Given the description of an element on the screen output the (x, y) to click on. 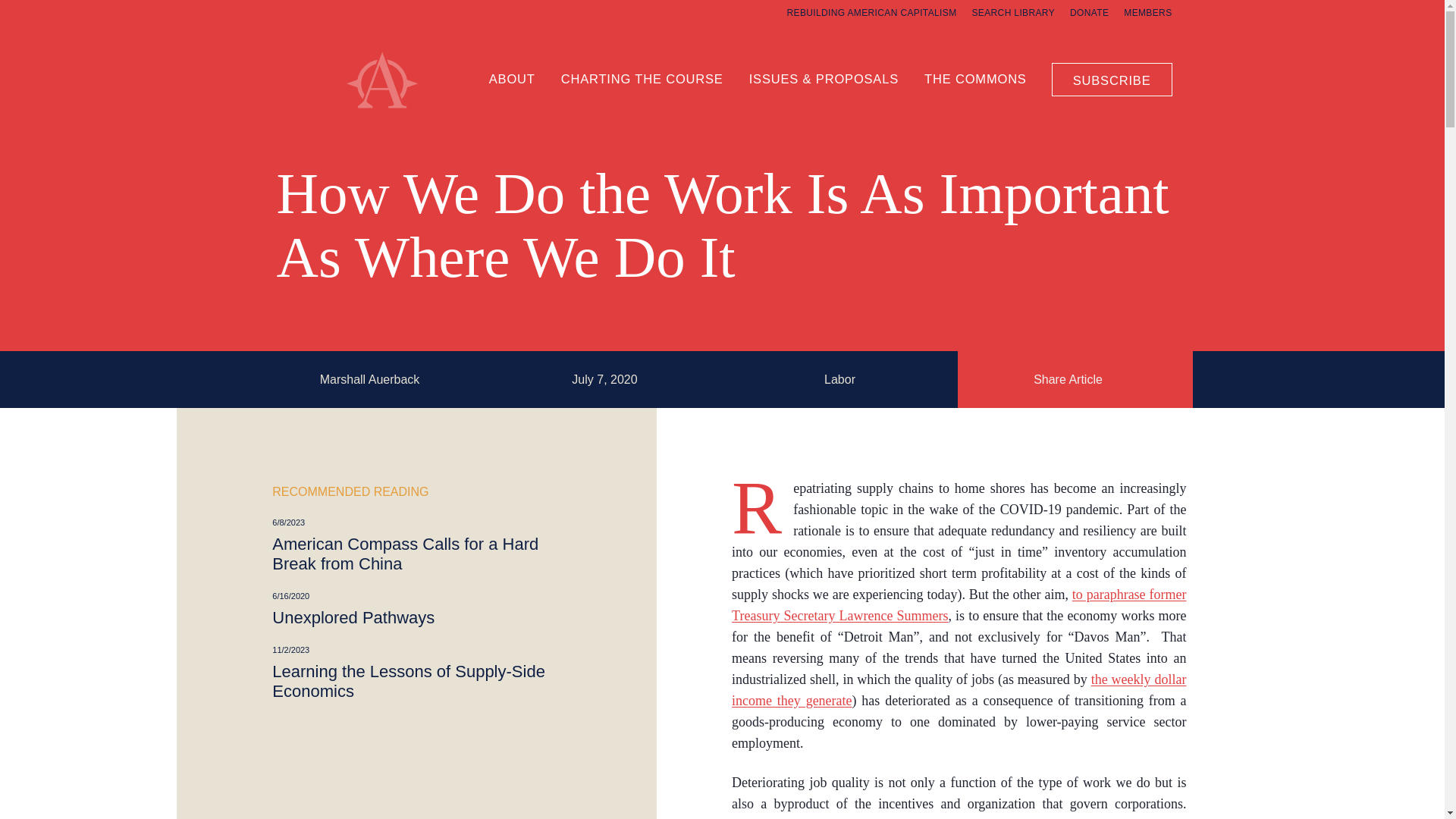
ABOUT (512, 78)
MEMBERS (1148, 12)
SUBSCRIBE (1111, 78)
DONATE (1089, 12)
CHARTING THE COURSE (641, 78)
REBUILDING AMERICAN CAPITALISM (871, 12)
THE COMMONS (975, 78)
SEARCH LIBRARY (1012, 12)
American Compass (398, 116)
